Given the description of an element on the screen output the (x, y) to click on. 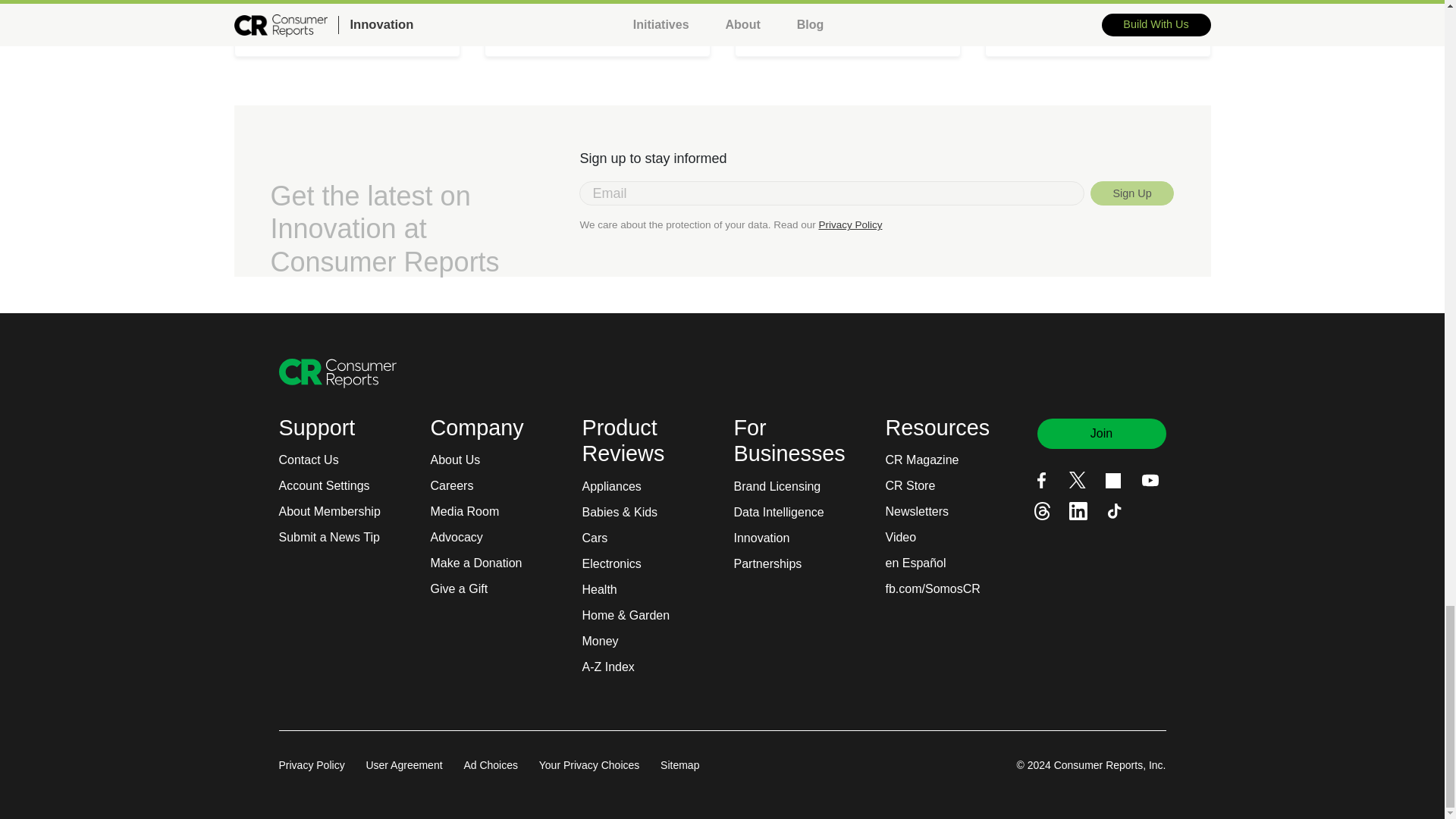
Threads (1041, 511)
X (1077, 479)
YouTube (1149, 479)
Sign Up (1132, 192)
TikTok (1114, 511)
Consumer Reports (337, 373)
LinkedIn (1077, 511)
Stacey Higginbotham (343, 4)
Facebook (1040, 480)
Instagram (1113, 480)
